Given the description of an element on the screen output the (x, y) to click on. 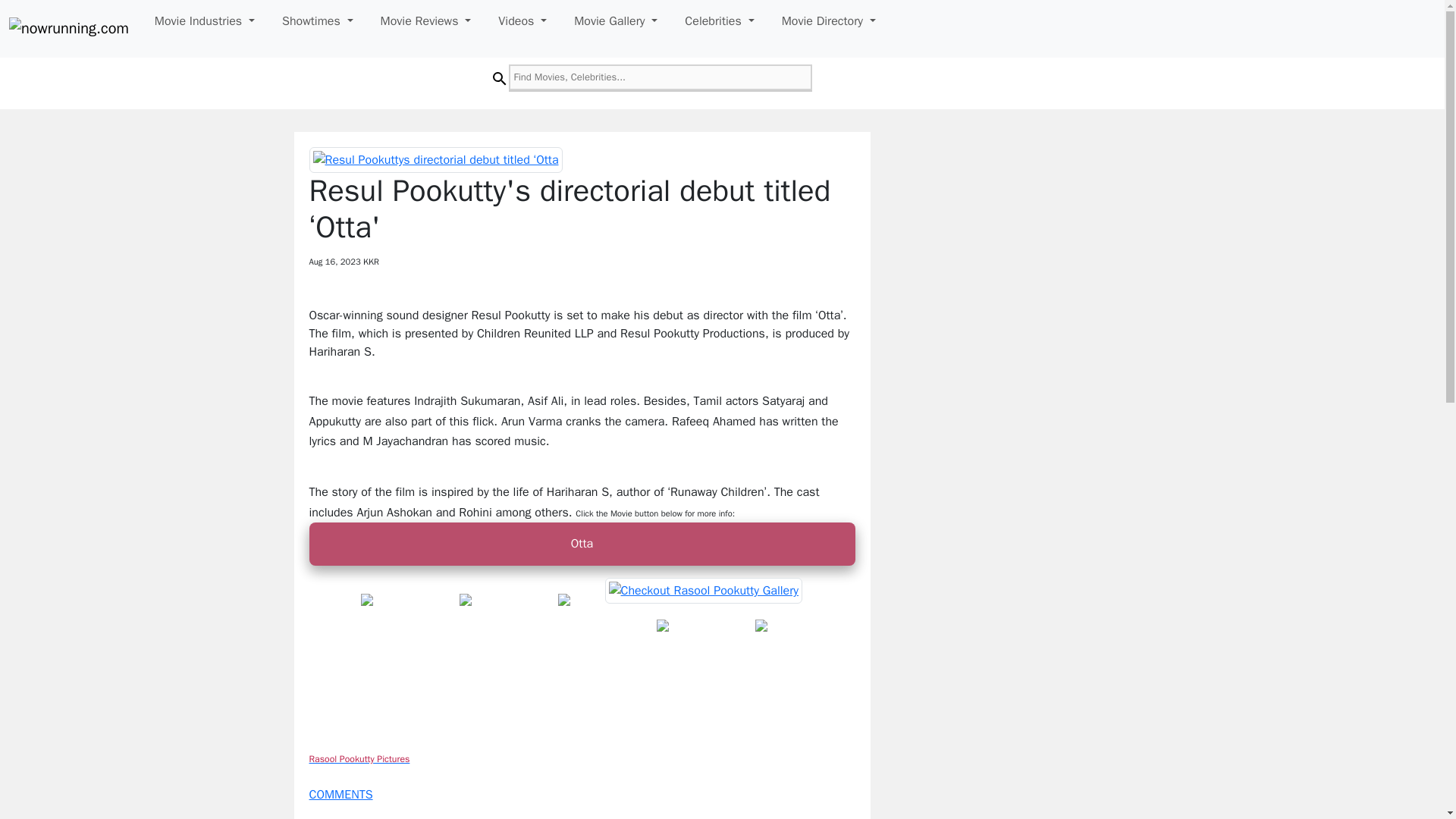
Movie Industries (204, 20)
Movie Gallery (615, 20)
Movie Reviews (425, 20)
Videos (522, 20)
Showtimes (317, 20)
